Given the description of an element on the screen output the (x, y) to click on. 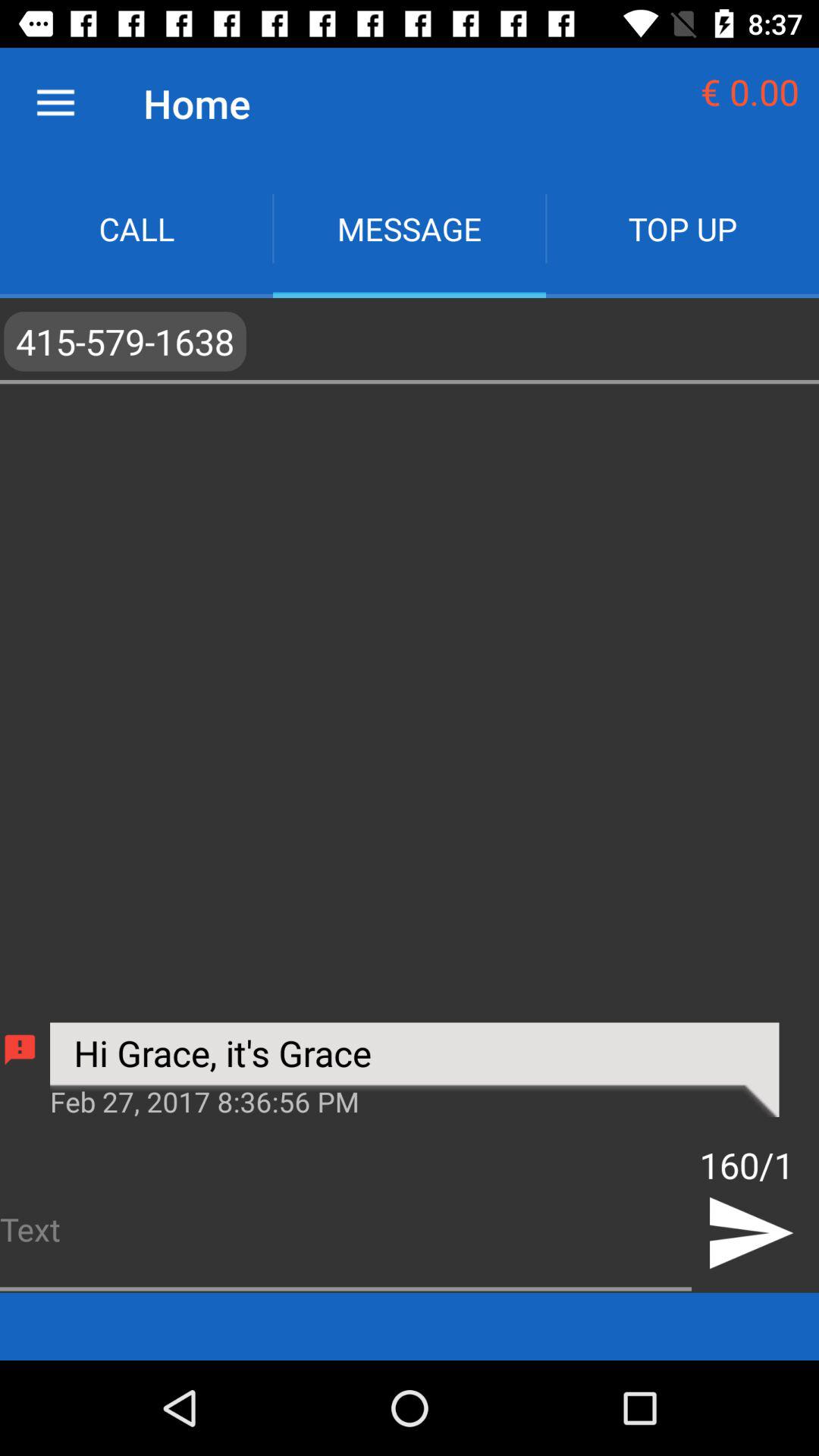
select the icon next to hi grace it (19, 1049)
